Given the description of an element on the screen output the (x, y) to click on. 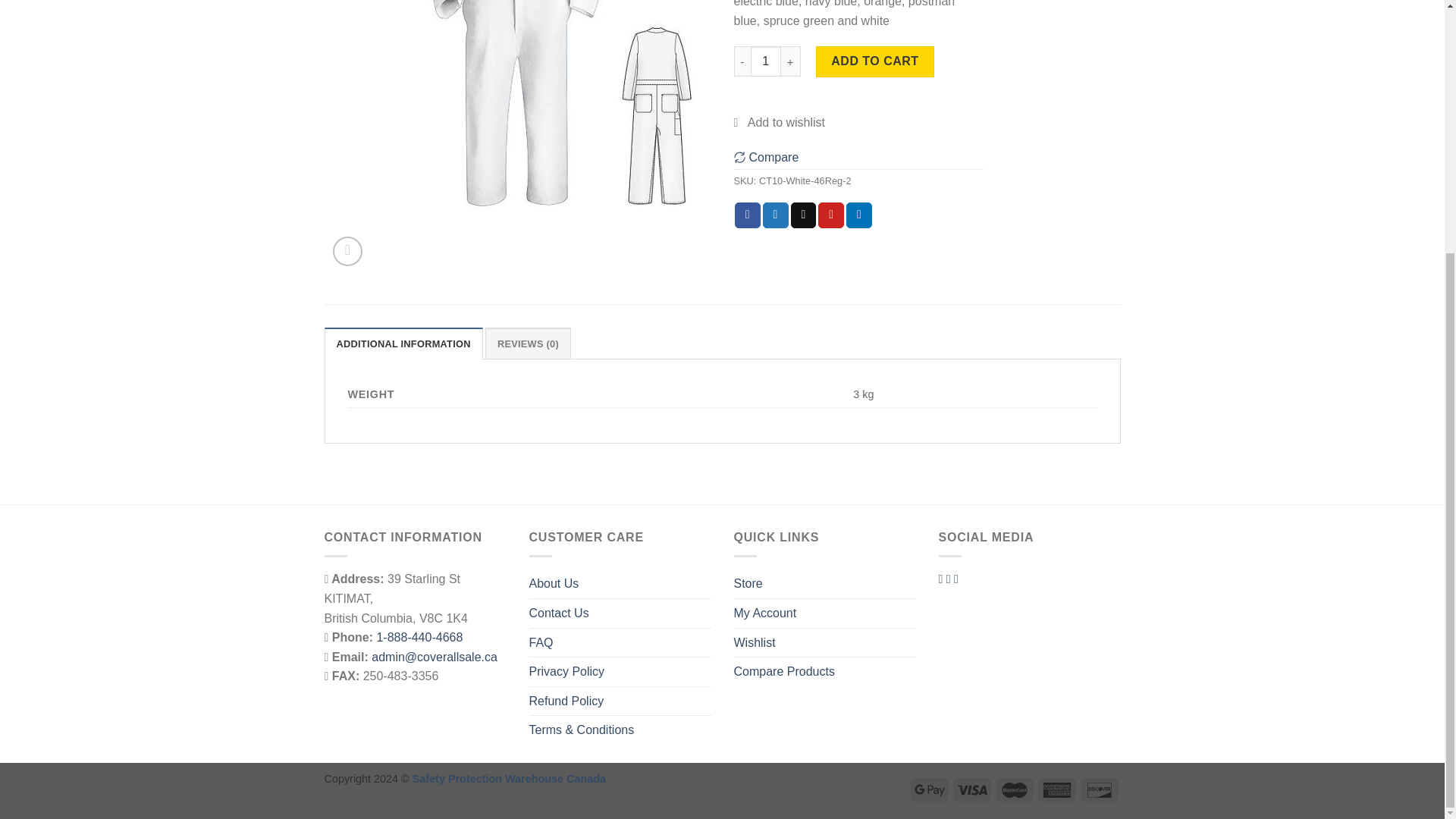
Share on Facebook (747, 215)
Zoom (347, 251)
1 (765, 60)
